Given the description of an element on the screen output the (x, y) to click on. 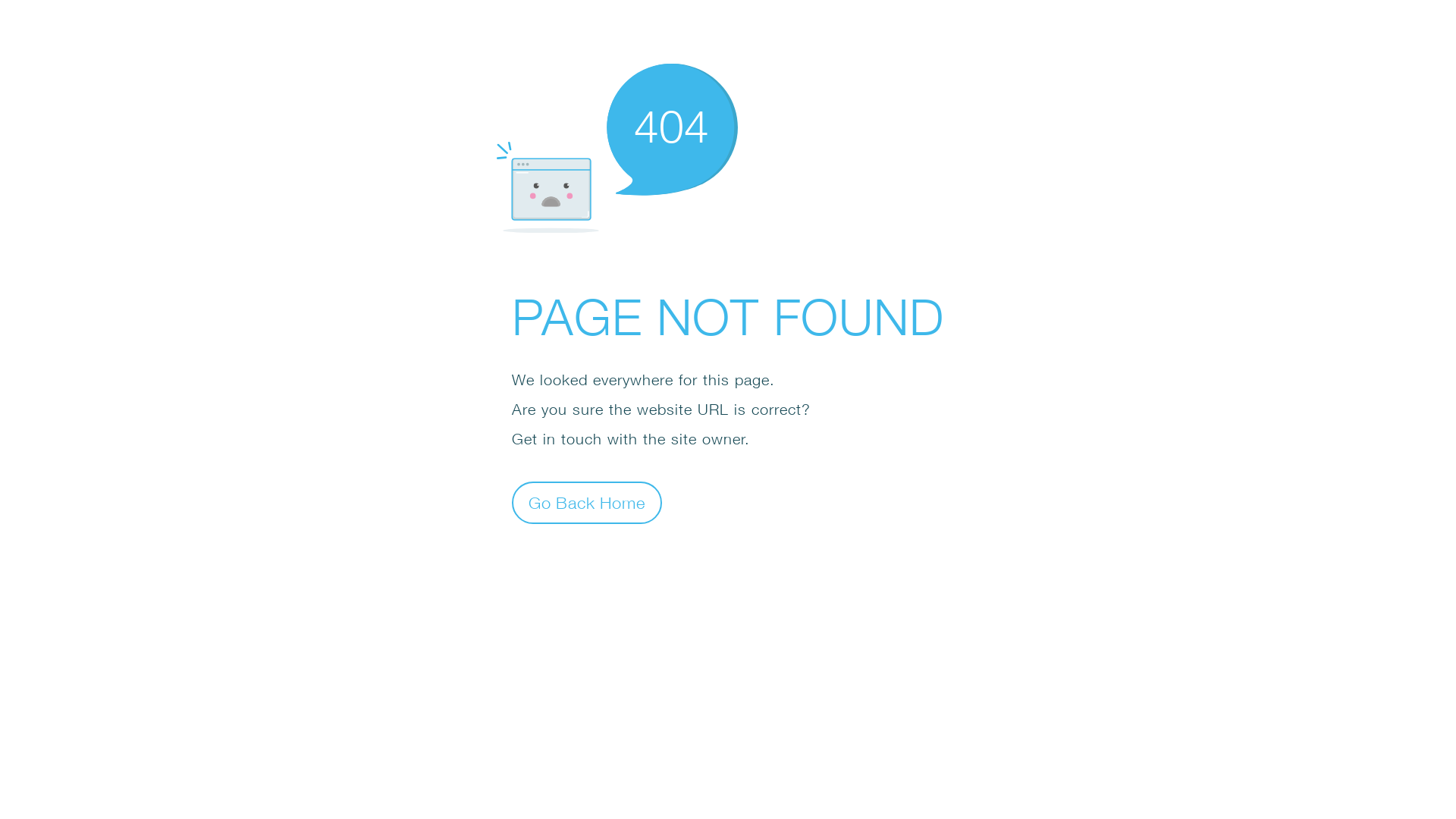
Go Back Home Element type: text (586, 502)
